Given the description of an element on the screen output the (x, y) to click on. 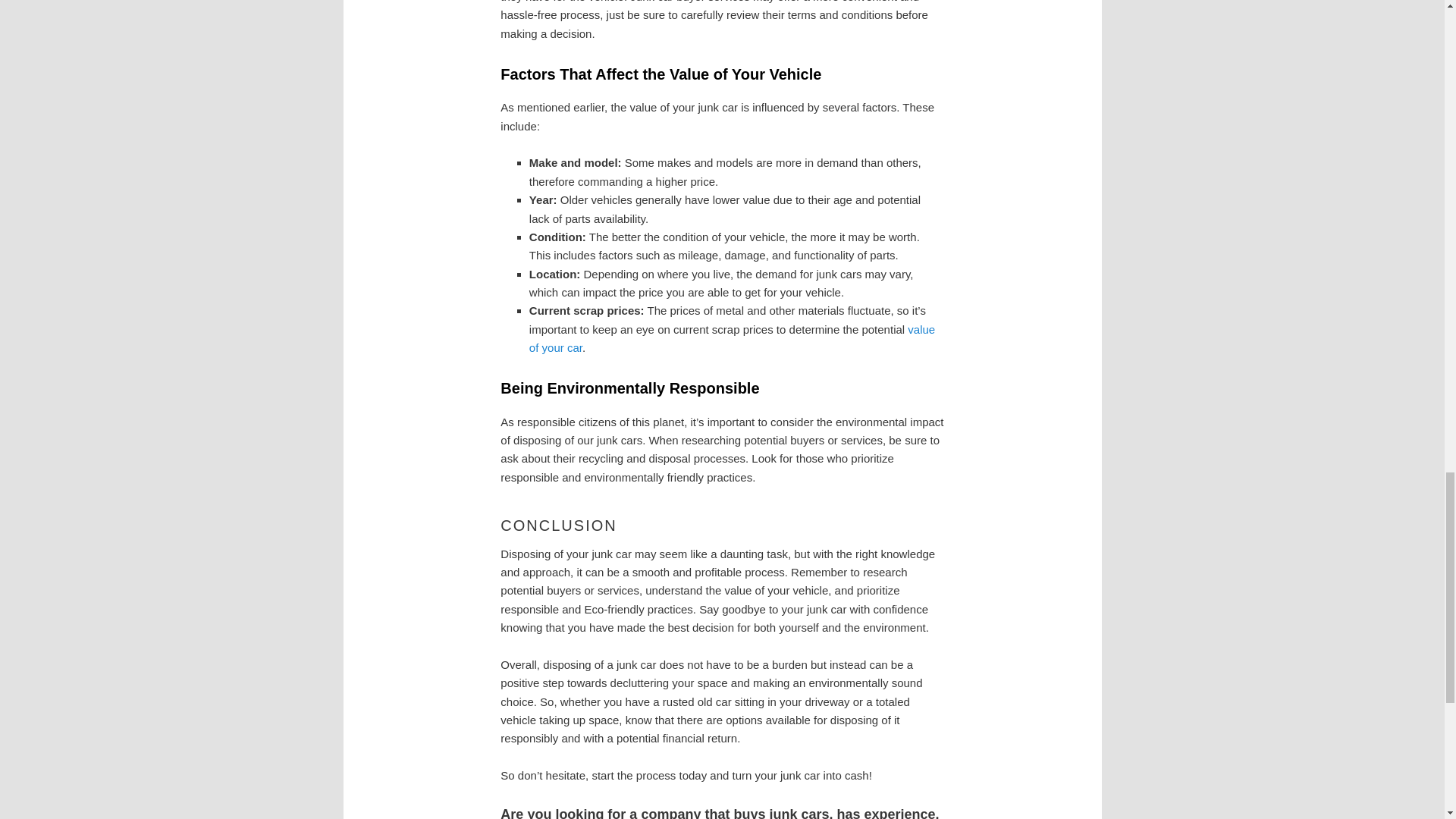
value of your car (731, 337)
